Given the description of an element on the screen output the (x, y) to click on. 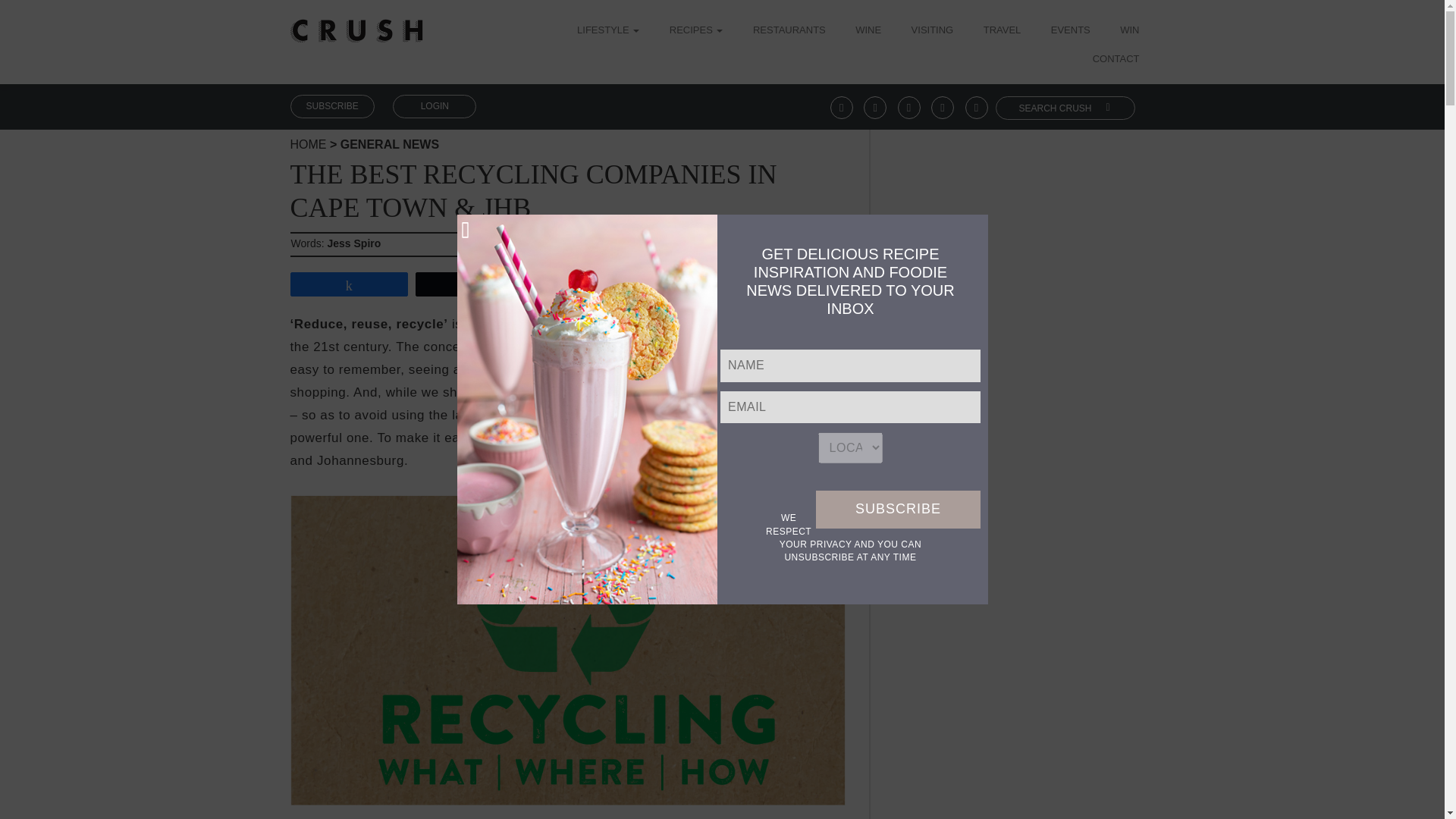
VISITING (932, 31)
CONTACT (1116, 59)
RESTAURANTS (789, 31)
WINE (868, 31)
Crush Mag Online (355, 24)
3rd party ad content (1017, 705)
WIN (1129, 31)
Subscribe (897, 509)
EVENTS (1070, 31)
LIFESTYLE (613, 31)
RECIPES (696, 31)
Crush Magazine (307, 144)
TRAVEL (1002, 31)
